Given the description of an element on the screen output the (x, y) to click on. 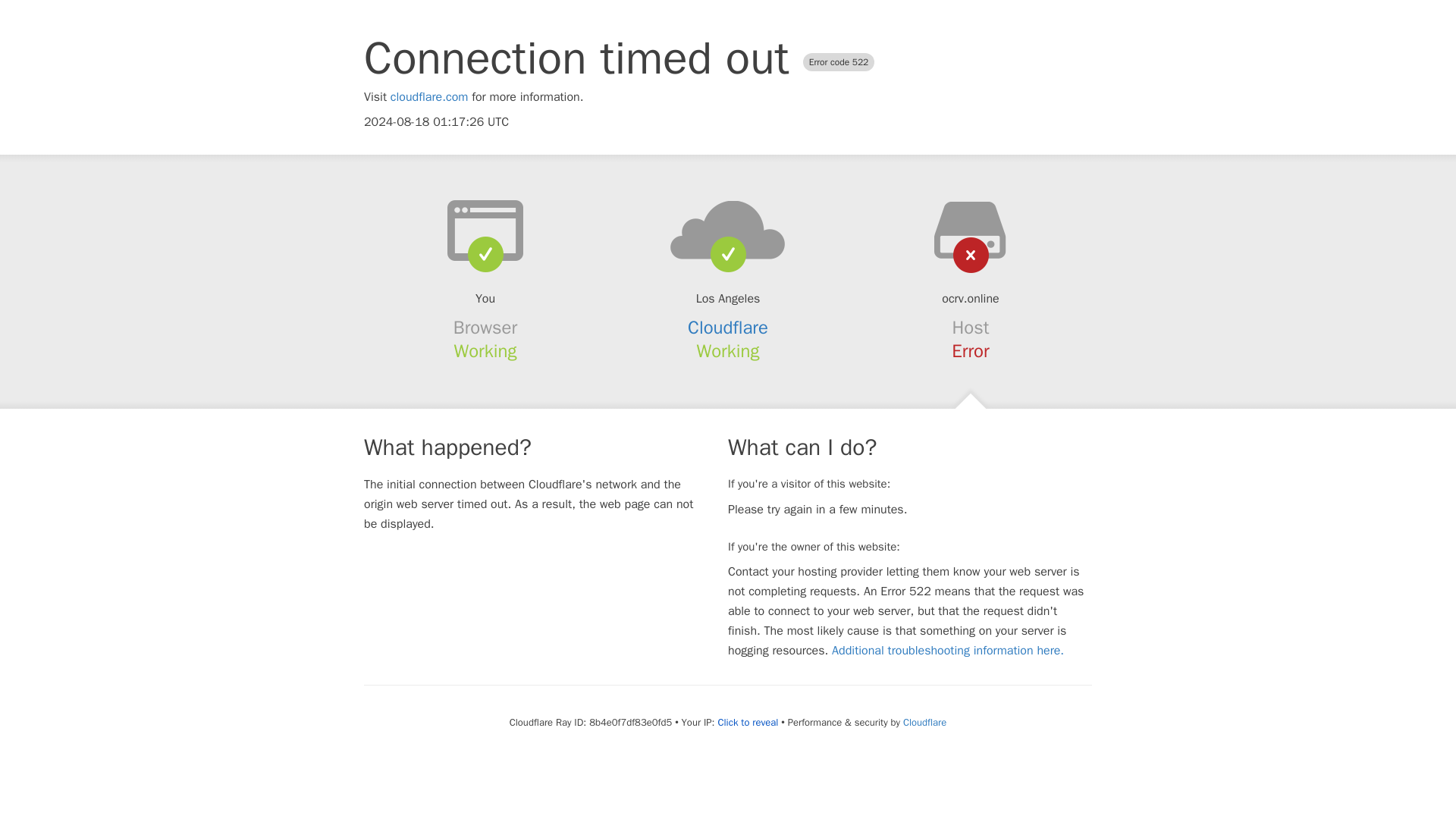
Cloudflare (727, 327)
Additional troubleshooting information here. (947, 650)
Click to reveal (747, 722)
cloudflare.com (429, 96)
Cloudflare (924, 721)
